Given the description of an element on the screen output the (x, y) to click on. 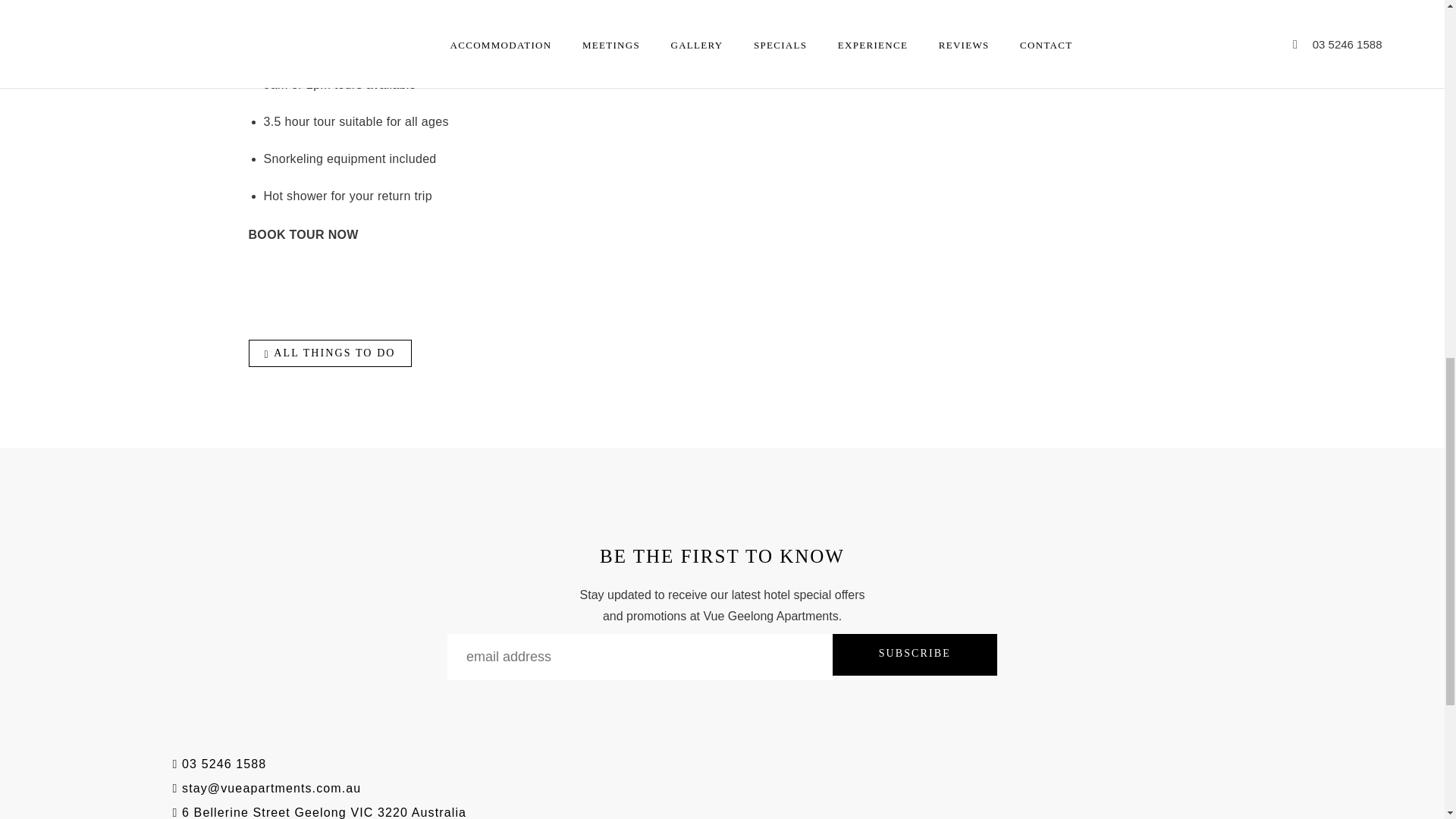
6 Bellerine Street Geelong VIC 3220 Australia (320, 812)
View All Things To Do (330, 352)
Subscribe (914, 654)
ALL THINGS TO DO (330, 352)
03 5246 1588 (224, 763)
Subscribe (914, 654)
